Given the description of an element on the screen output the (x, y) to click on. 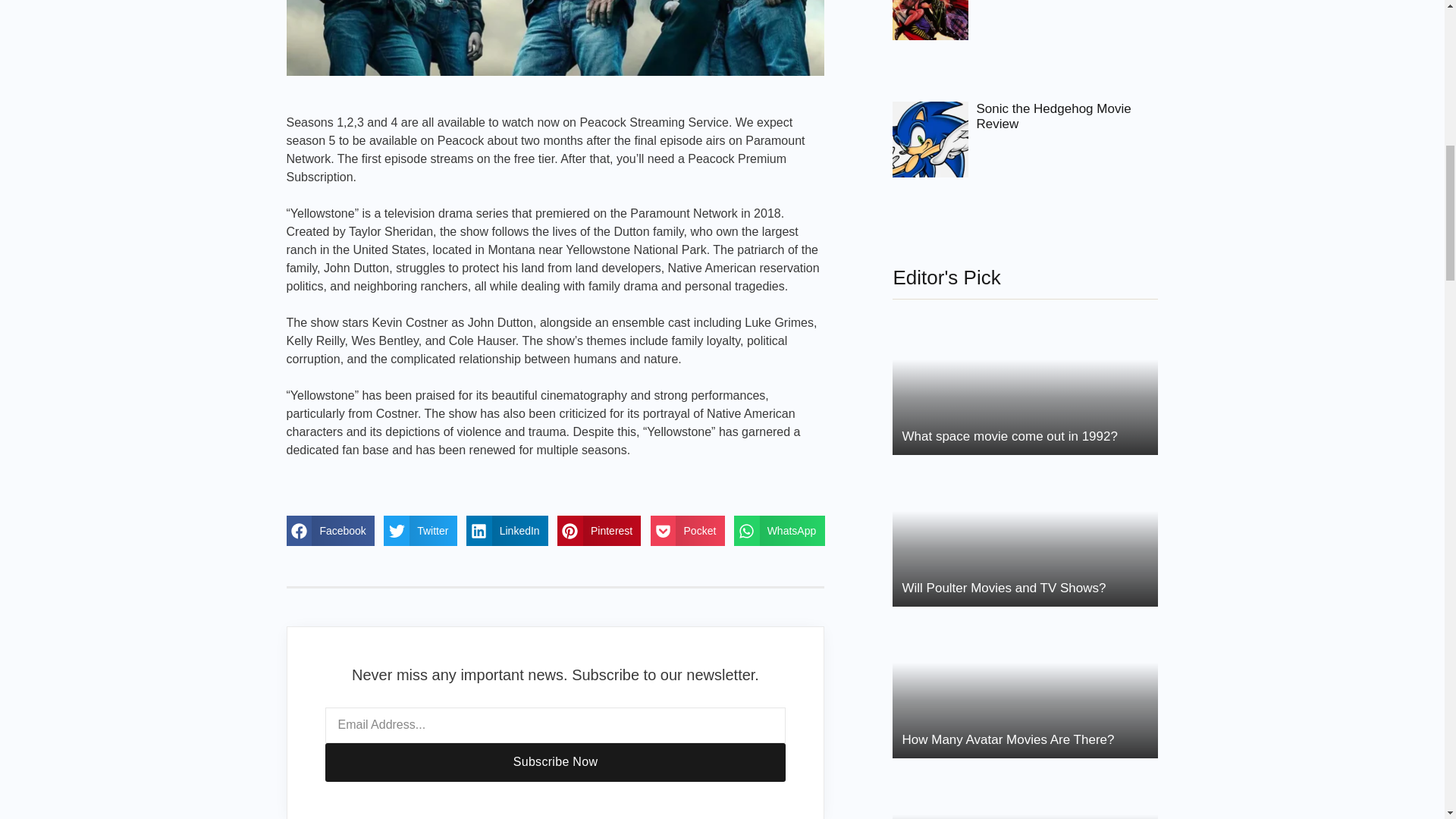
Subscribe Now (555, 762)
